Given the description of an element on the screen output the (x, y) to click on. 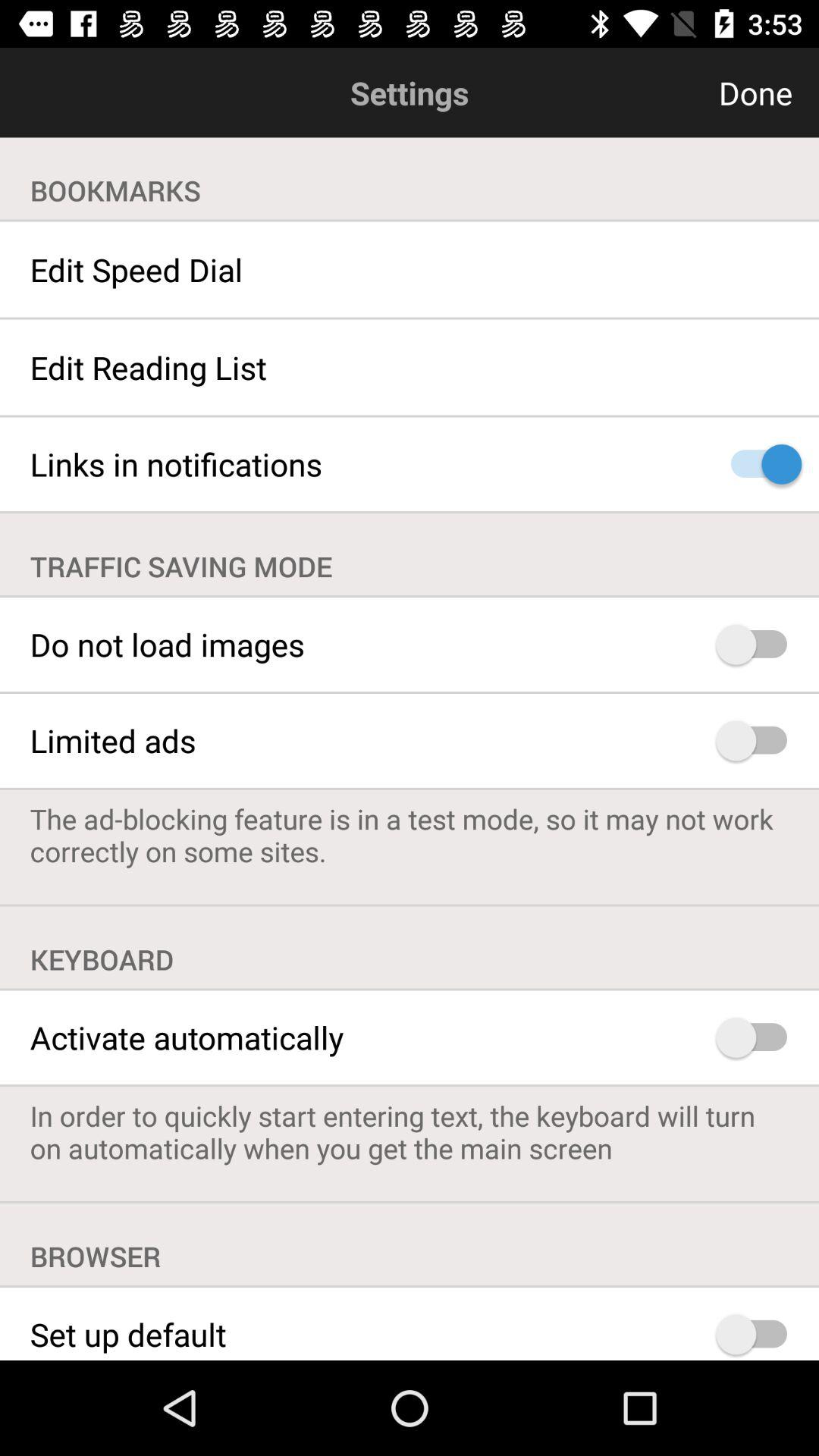
flip to edit reading list (409, 367)
